Given the description of an element on the screen output the (x, y) to click on. 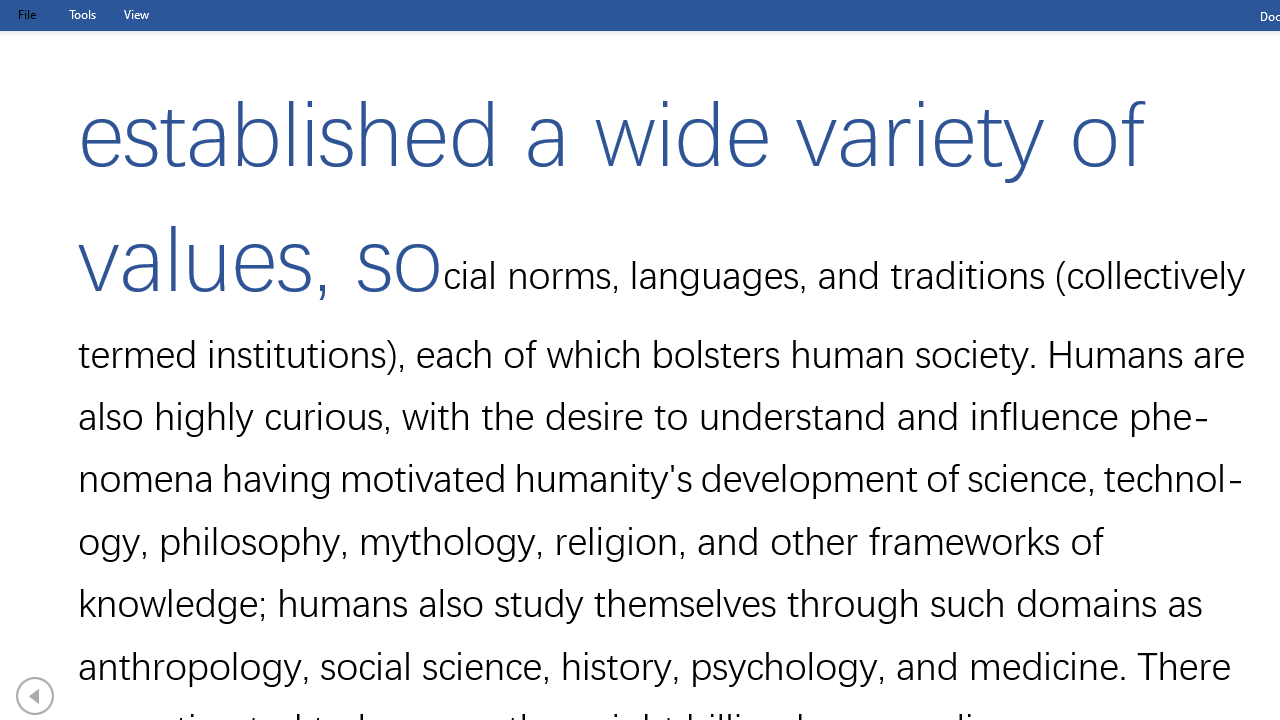
Tools (82, 14)
File Tab (26, 14)
View (136, 14)
